Given the description of an element on the screen output the (x, y) to click on. 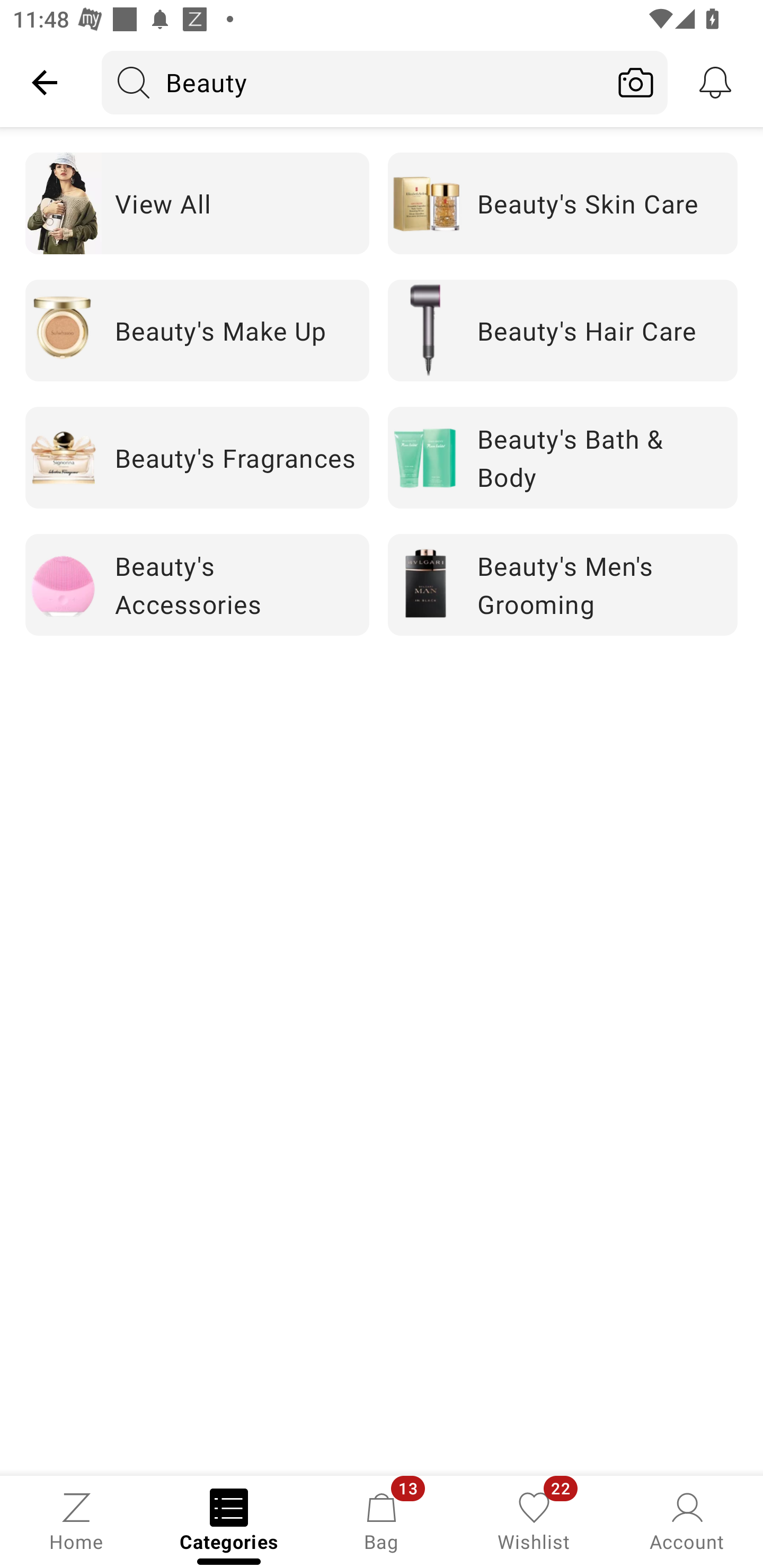
Navigate up (44, 82)
Beauty (352, 82)
View All (197, 203)
Beauty's Skin Care (562, 203)
Beauty's Make Up (197, 330)
Beauty's Hair Care (562, 330)
Beauty's Fragrances (197, 457)
Beauty's Bath & Body (562, 457)
Beauty's Accessories (197, 584)
Beauty's Men's Grooming (562, 584)
Home (76, 1519)
Bag, 13 new notifications Bag (381, 1519)
Wishlist, 22 new notifications Wishlist (533, 1519)
Account (686, 1519)
